Given the description of an element on the screen output the (x, y) to click on. 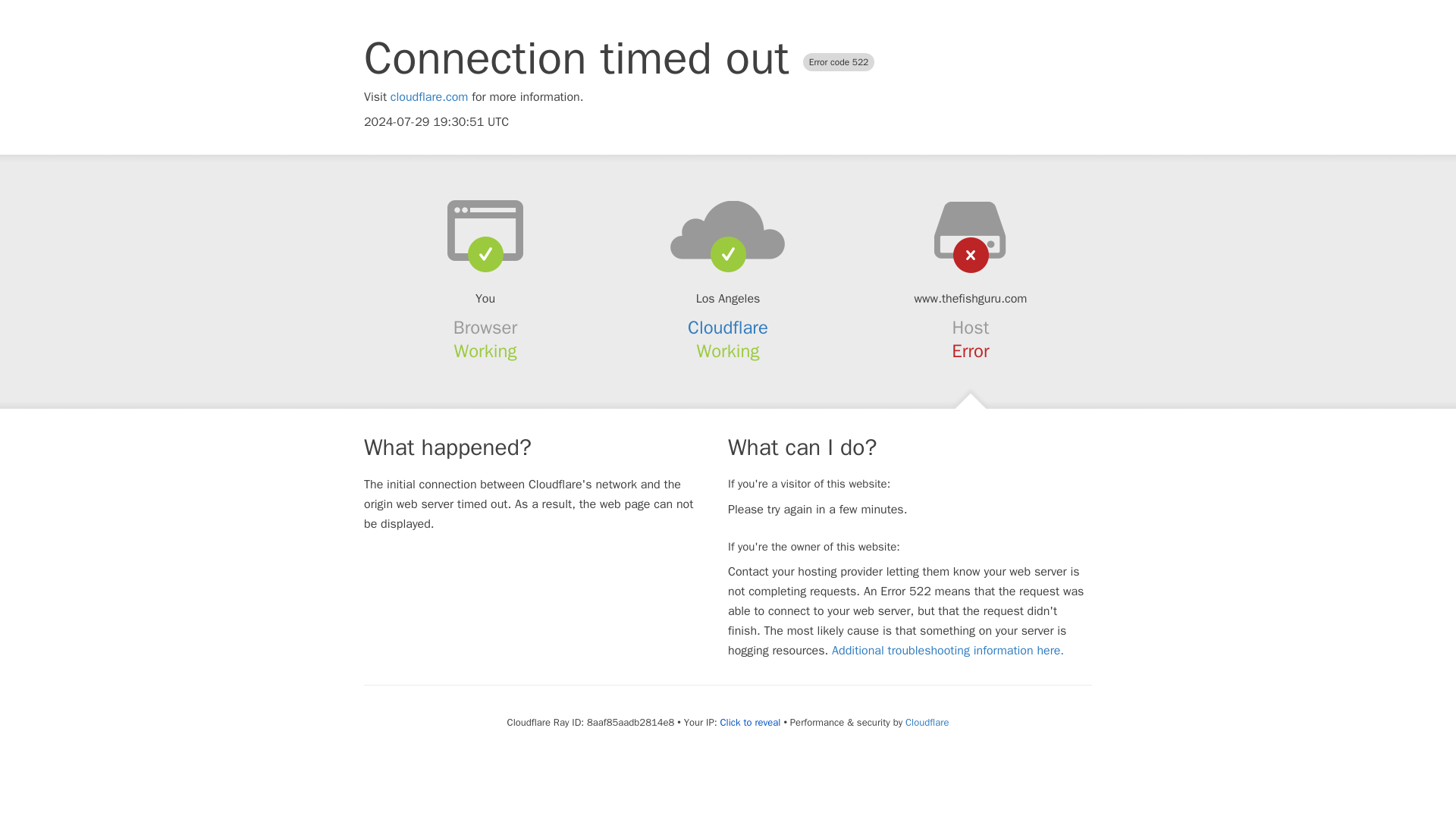
cloudflare.com (429, 96)
Cloudflare (727, 327)
Cloudflare (927, 721)
Click to reveal (750, 722)
Additional troubleshooting information here. (947, 650)
